Given the description of an element on the screen output the (x, y) to click on. 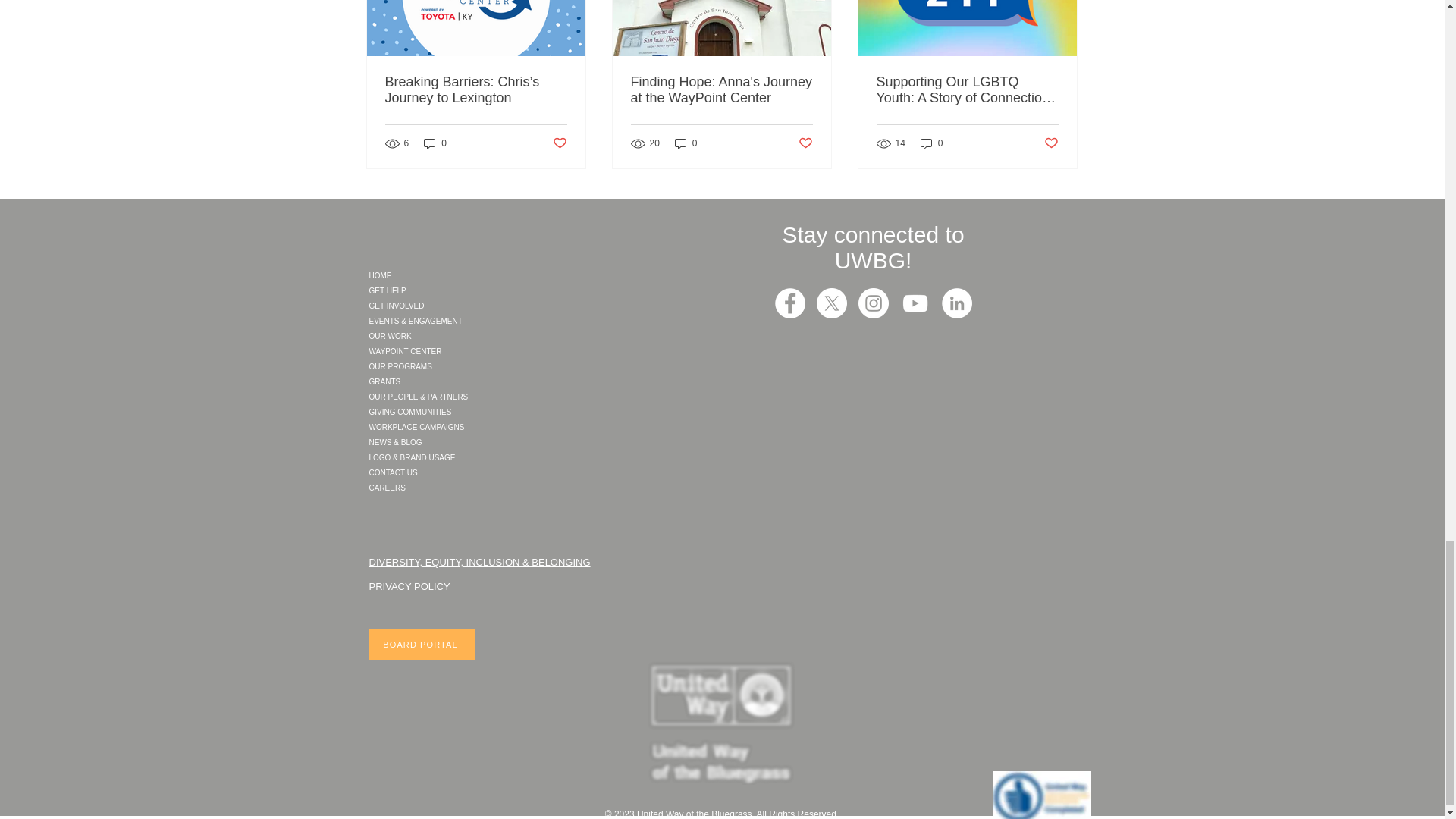
GET HELP (462, 290)
Post not marked as liked (804, 142)
0 (435, 143)
GET INVOLVED (462, 305)
HOME (462, 275)
0 (685, 143)
0 (931, 143)
Finding Hope: Anna's Journey at the WayPoint Center (721, 90)
Post not marked as liked (558, 142)
